Given the description of an element on the screen output the (x, y) to click on. 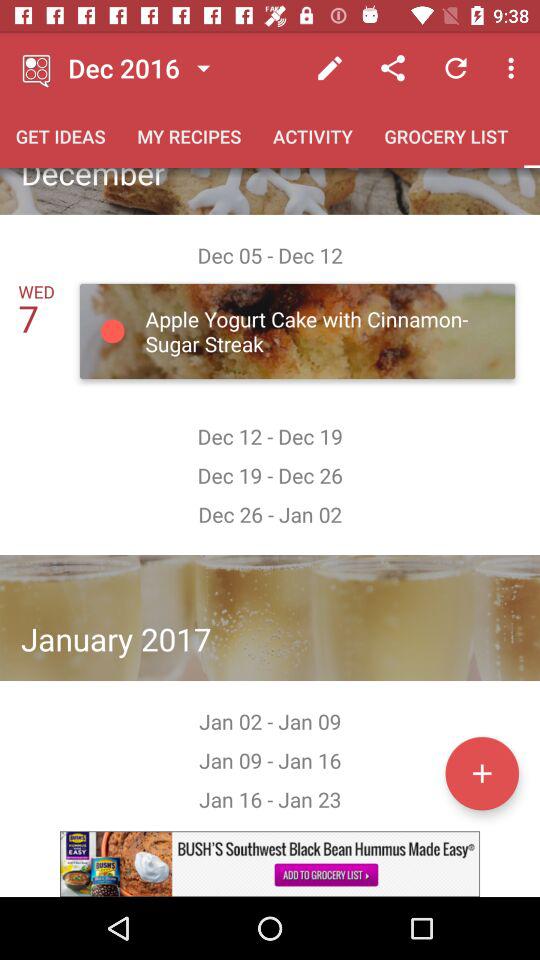
select the icon which is at the top left corner of the page (37, 68)
click on the icon refresh (456, 68)
dropdown right to dec 2016 (203, 67)
